Given the description of an element on the screen output the (x, y) to click on. 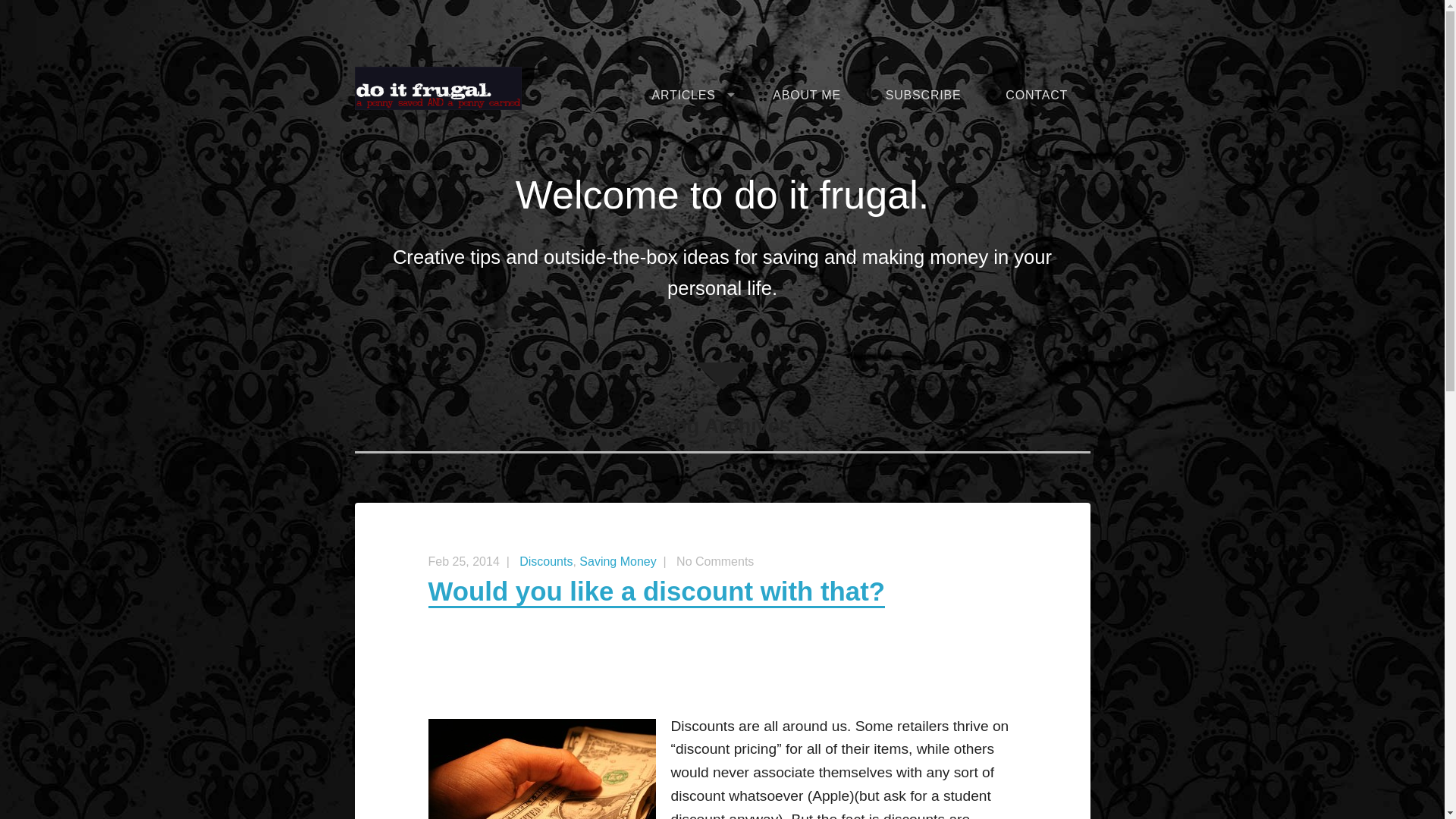
Discounts (545, 561)
Would you like a discount with that? (656, 592)
do it frugal. (438, 87)
Advertisement (721, 671)
ARTICLES (689, 94)
CONTACT (1036, 94)
Saving Money (617, 561)
SUBSCRIBE (922, 94)
Permalink to Would you like a discount with that? (656, 592)
ABOUT ME (807, 94)
